Given the description of an element on the screen output the (x, y) to click on. 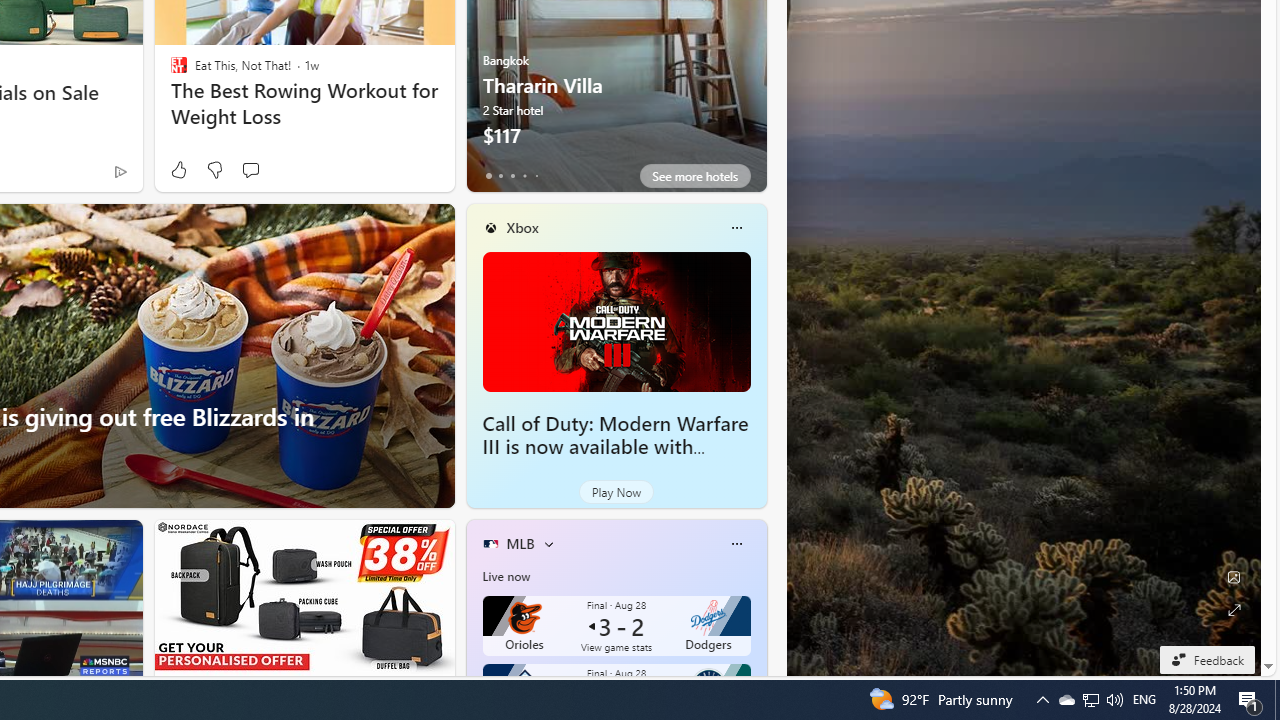
previous (476, 39)
Play Now (616, 491)
Edit Background (1233, 577)
tab-0 (488, 175)
tab-4 (535, 175)
Ad Choice (119, 171)
Class: icon-img (736, 543)
Xbox (521, 227)
MLB (520, 543)
More options (736, 543)
Dislike (213, 170)
Like (178, 170)
tab-3 (524, 175)
